Given the description of an element on the screen output the (x, y) to click on. 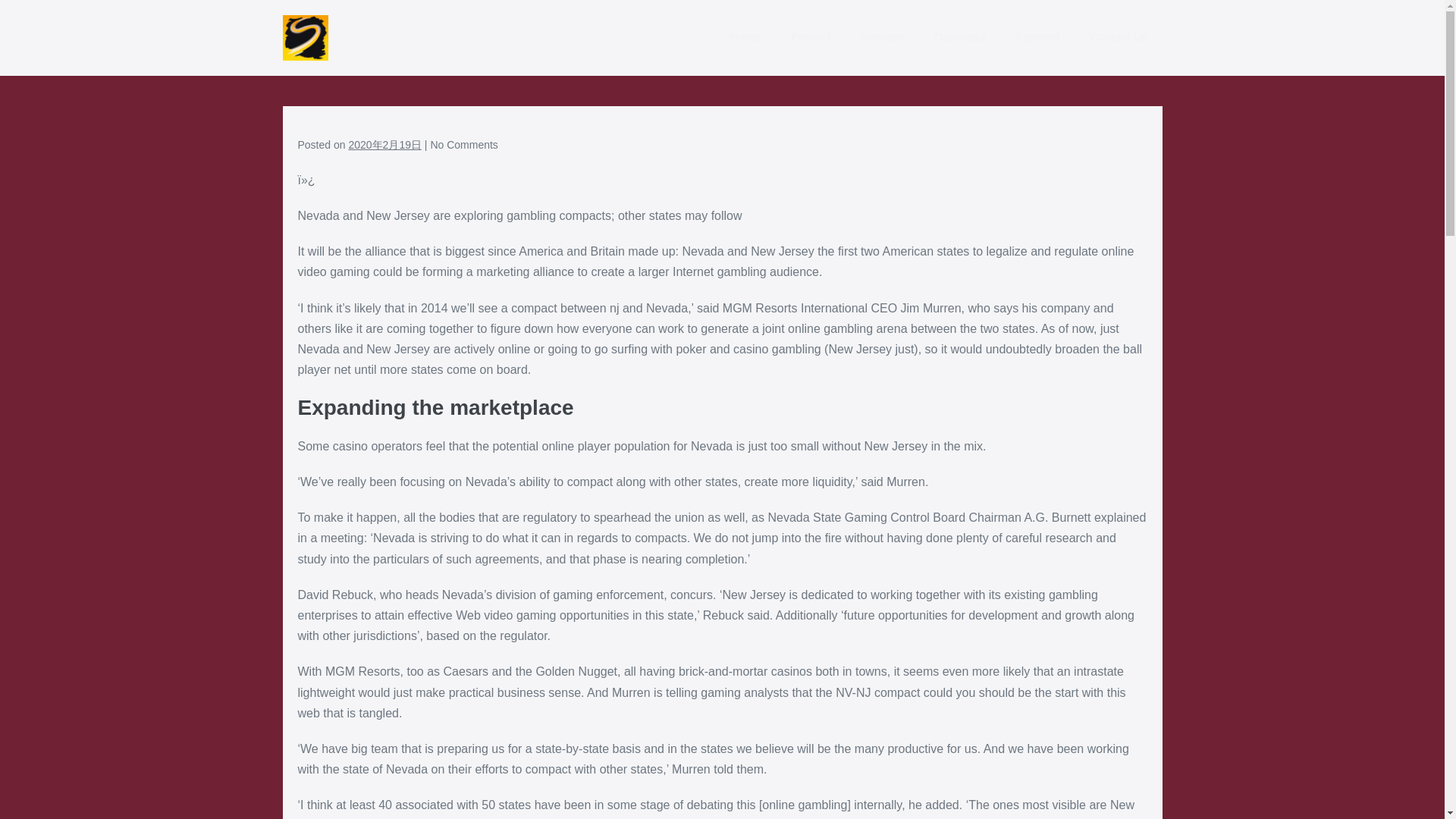
Payment (1037, 37)
Sports System Limited (304, 37)
Product (810, 37)
Home (745, 37)
Contact Us (1118, 37)
Download (959, 37)
Services (882, 37)
